Given the description of an element on the screen output the (x, y) to click on. 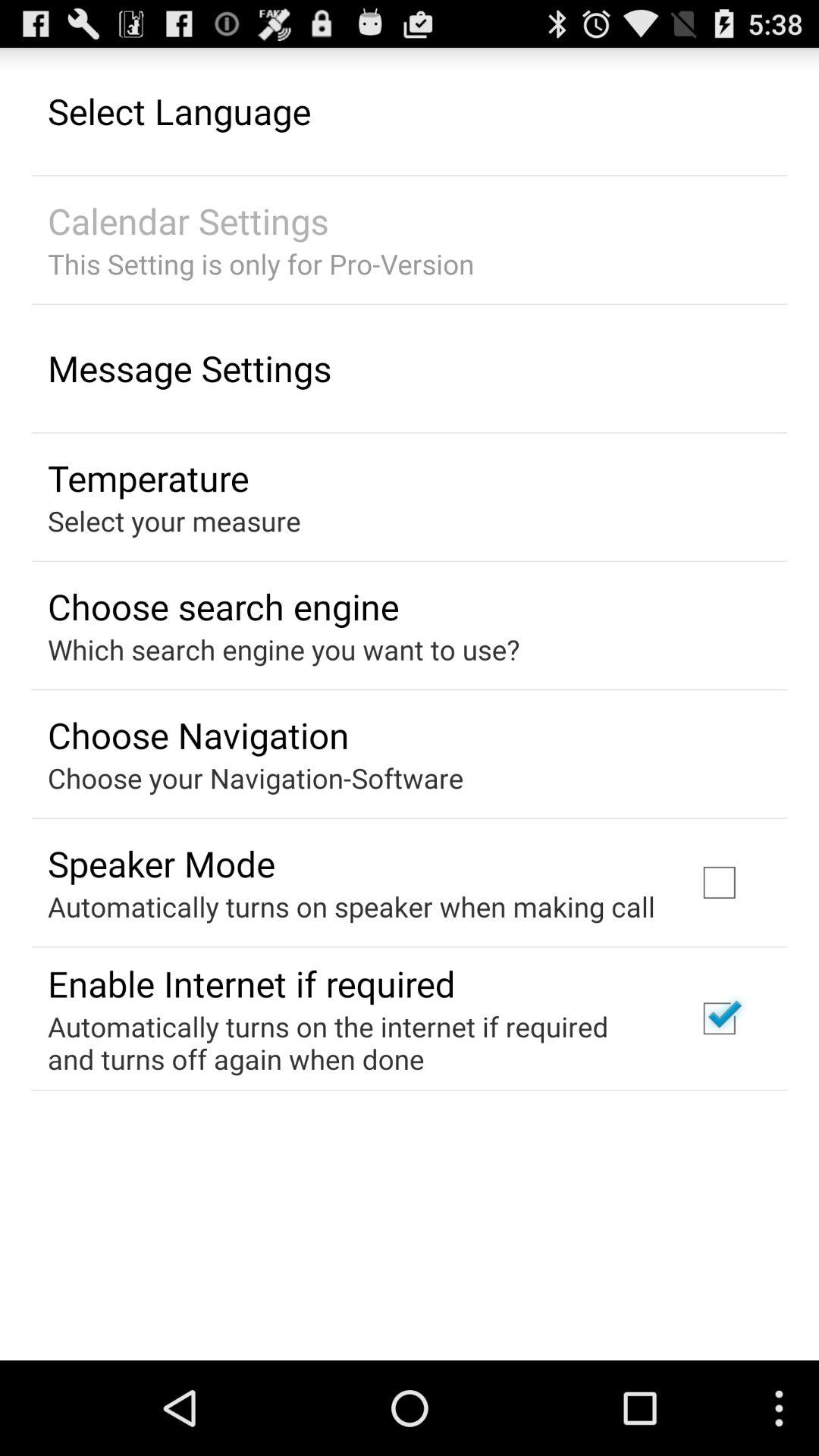
turn on the item above calendar settings app (179, 111)
